Given the description of an element on the screen output the (x, y) to click on. 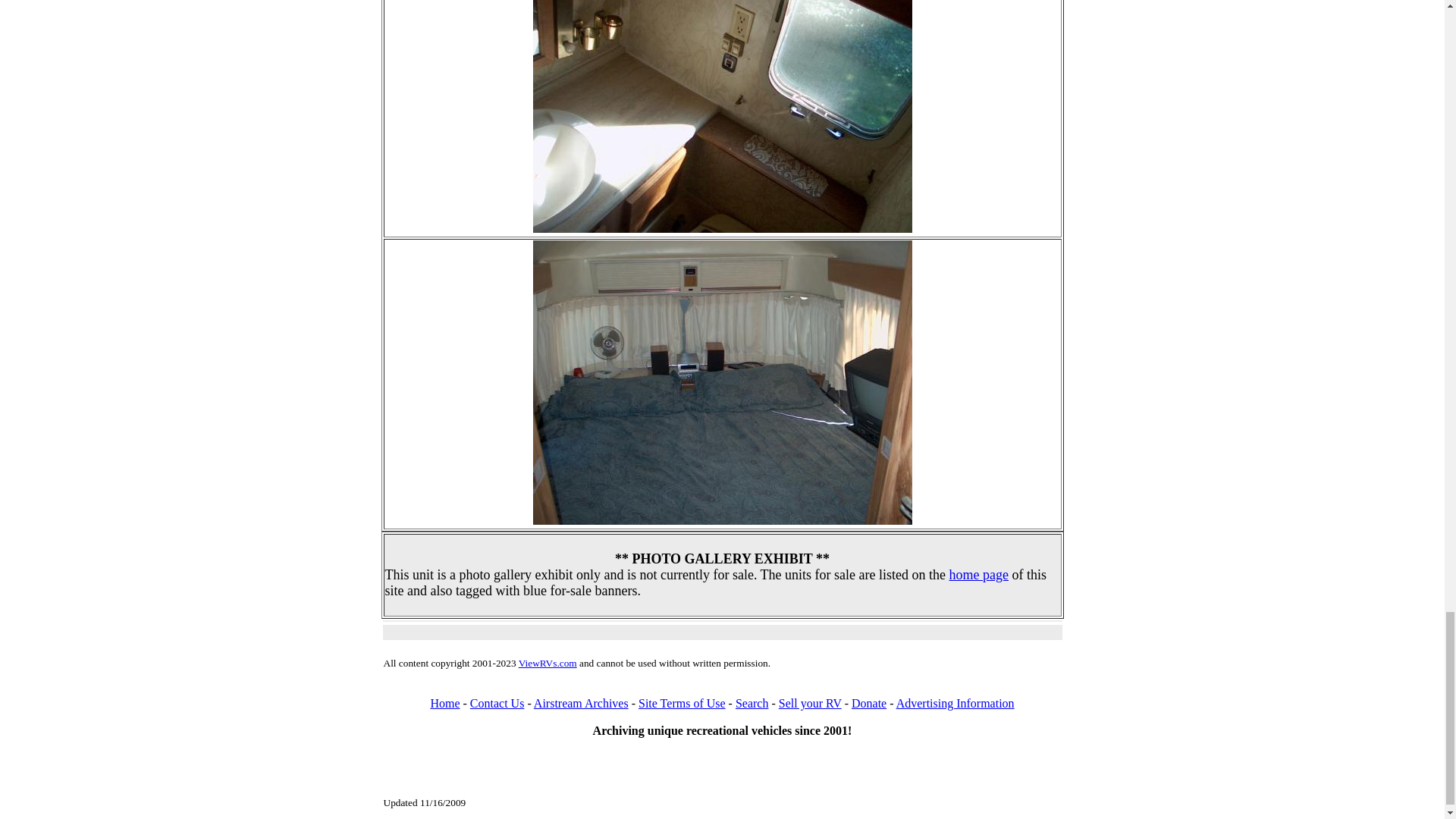
ViewRVs.com (547, 663)
home page (979, 574)
Contact Us (497, 703)
Sell your RV (809, 703)
Donate (868, 703)
Search (751, 703)
Advertising Information (955, 703)
Airstream Archives (581, 703)
Site Terms of Use (682, 703)
Home (444, 703)
